Given the description of an element on the screen output the (x, y) to click on. 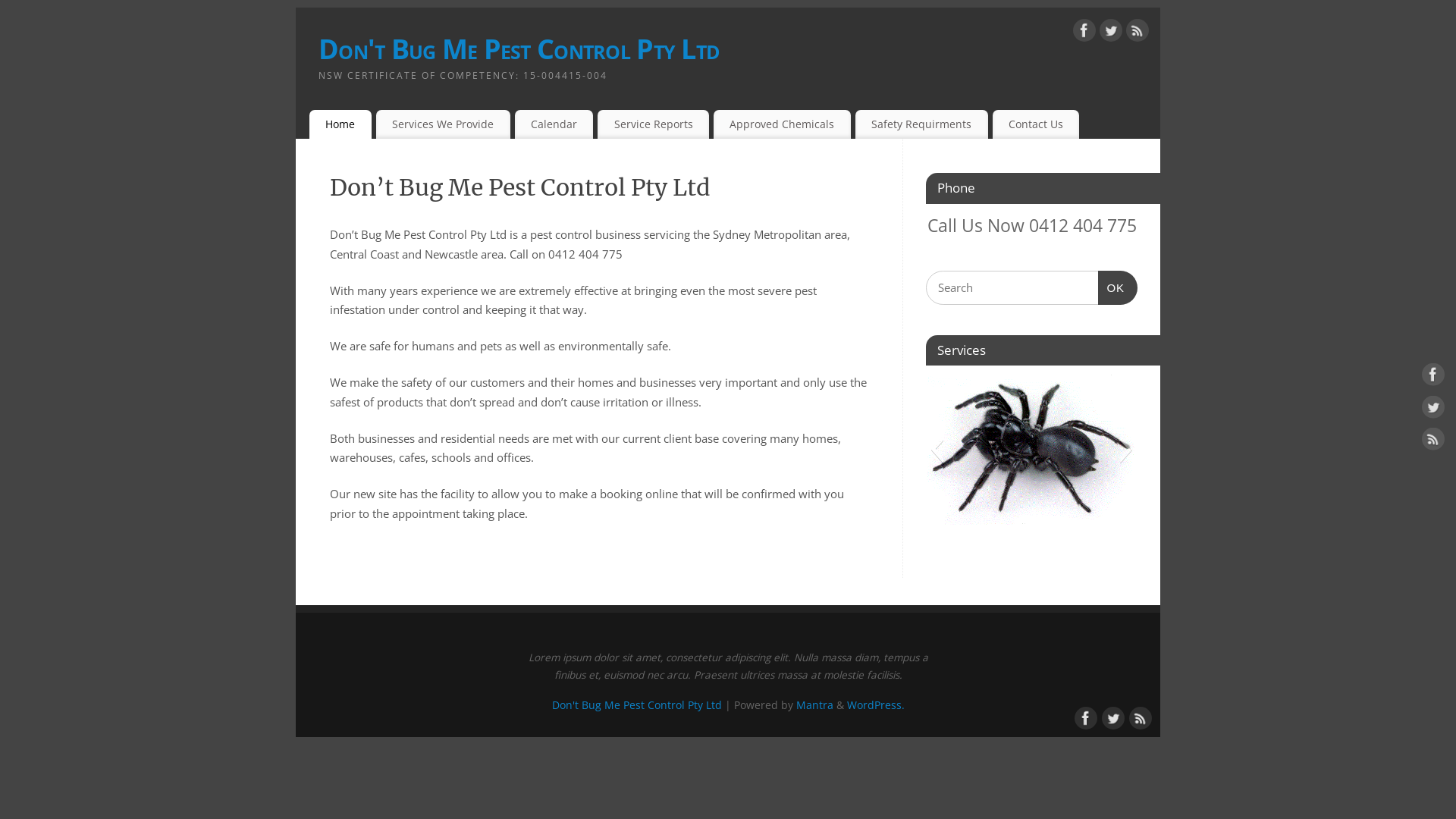
Contact Us Element type: text (1035, 123)
RSS Element type: hover (1432, 441)
Don't Bug Me Pest Control Pty Ltd Element type: text (739, 49)
RSS Element type: hover (1137, 32)
Approved Chemicals Element type: text (781, 123)
Facebook Element type: hover (1084, 716)
Don't Bug Me Pest Control Pty Ltd Element type: text (636, 705)
Safety Requirments Element type: text (921, 123)
RSS Element type: hover (1138, 716)
Home Element type: text (340, 123)
Facebook Element type: hover (1432, 377)
OK Element type: text (1118, 287)
Services We Provide Element type: text (443, 123)
WordPress. Element type: text (874, 705)
Facebook Element type: hover (1084, 32)
Twitter Element type: hover (1110, 32)
Mantra Element type: text (814, 705)
Calendar Element type: text (553, 123)
Twitter Element type: hover (1432, 409)
Twitter Element type: hover (1111, 716)
Service Reports Element type: text (653, 123)
